Given the description of an element on the screen output the (x, y) to click on. 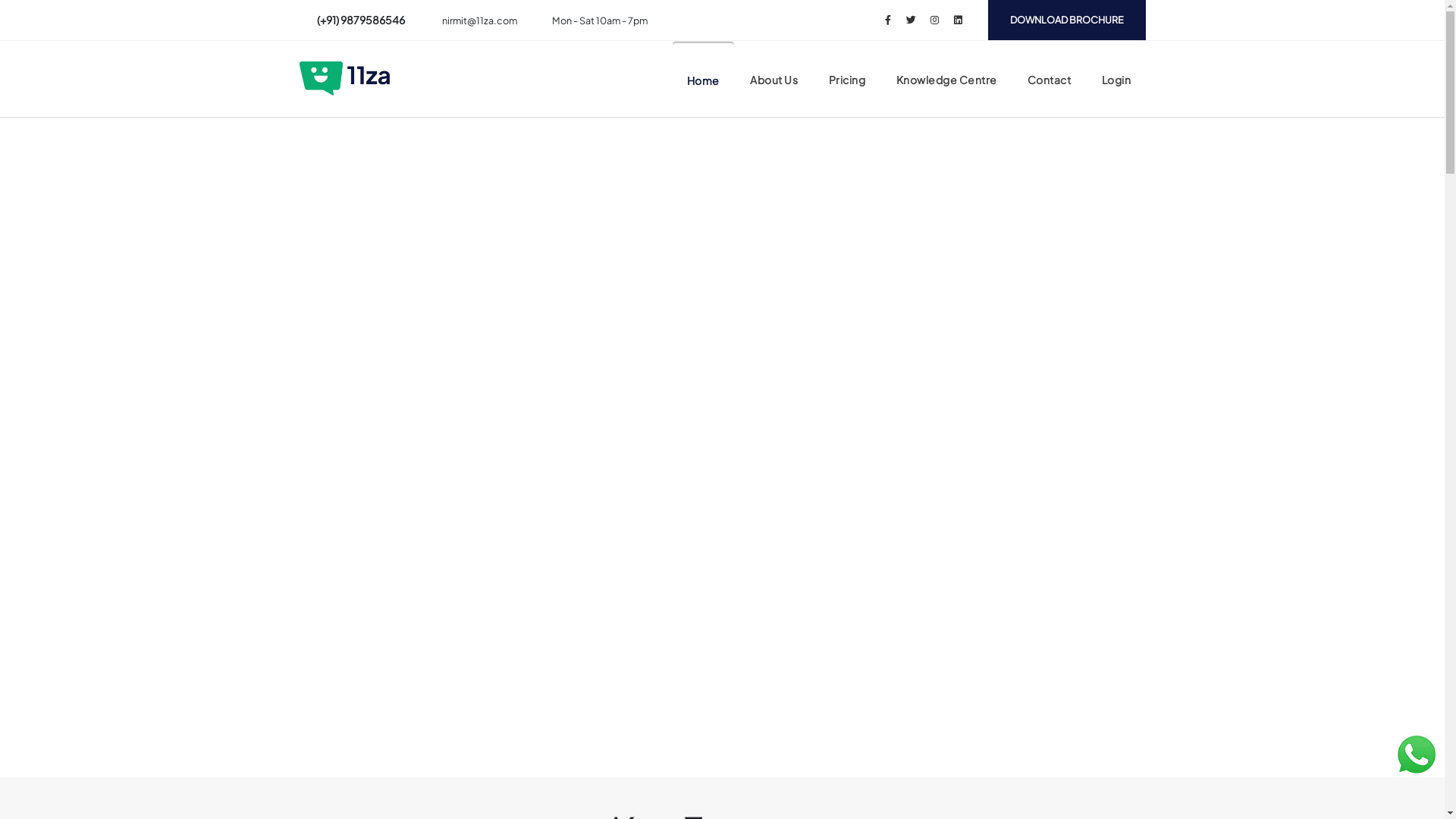
Login Element type: text (1116, 79)
DOWNLOAD BROCHURE Element type: text (1066, 20)
Instagram Element type: hover (933, 19)
Twitter Element type: hover (911, 19)
Facebook Element type: hover (886, 19)
Home Element type: text (703, 79)
LinkedIn Element type: hover (958, 19)
About Us Element type: text (773, 79)
Pricing Element type: text (847, 79)
Knowledge Centre Element type: text (945, 79)
(+91) 9879586546 Element type: text (360, 19)
nirmit@11za.com Element type: text (478, 20)
Contact Element type: text (1049, 79)
